Given the description of an element on the screen output the (x, y) to click on. 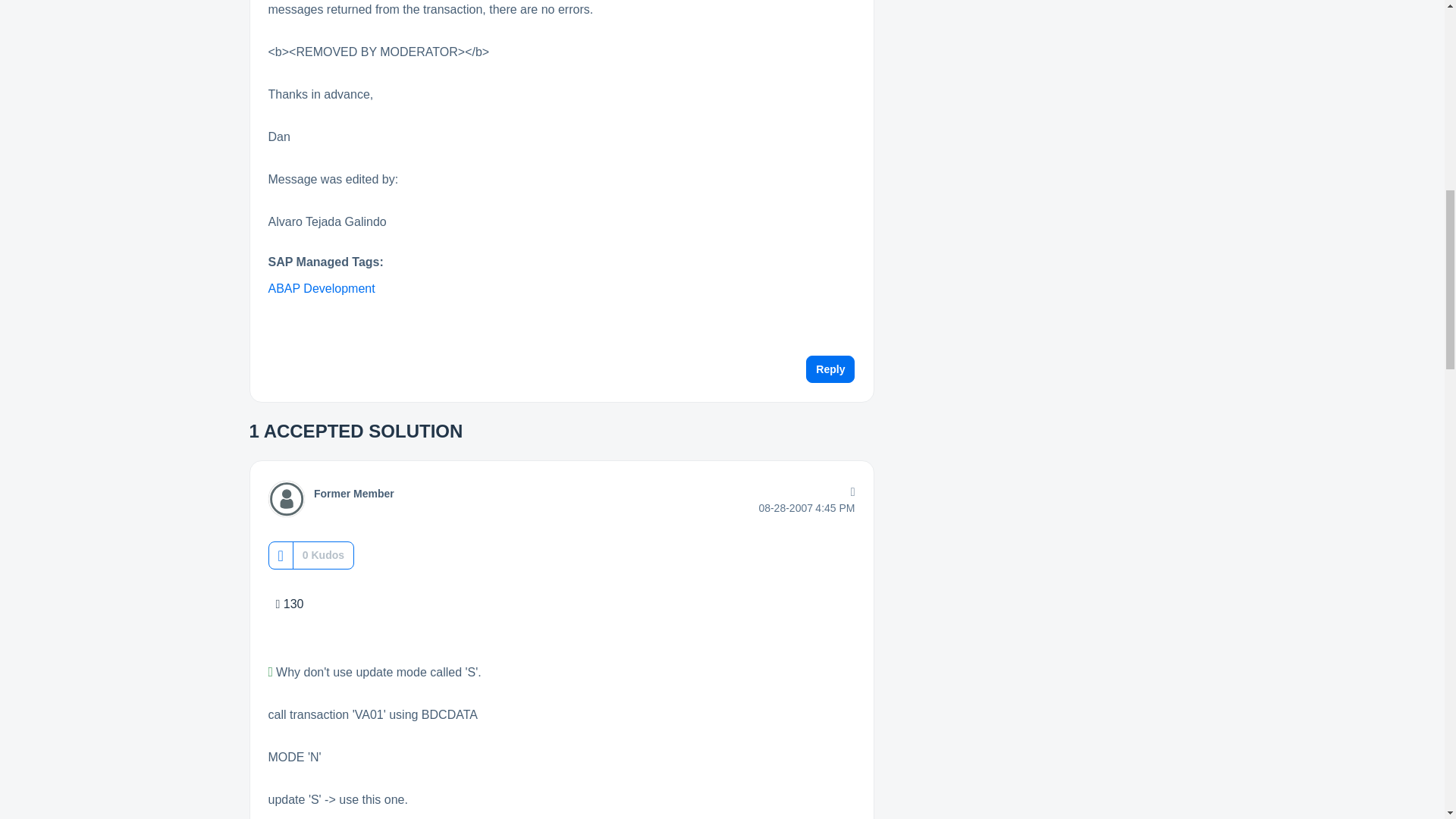
Options (850, 492)
ABAP Development (321, 287)
Show option menu (850, 492)
The total number of kudos this post has received. (323, 555)
Reply (830, 369)
Click here to give kudos to this post. (279, 555)
